Given the description of an element on the screen output the (x, y) to click on. 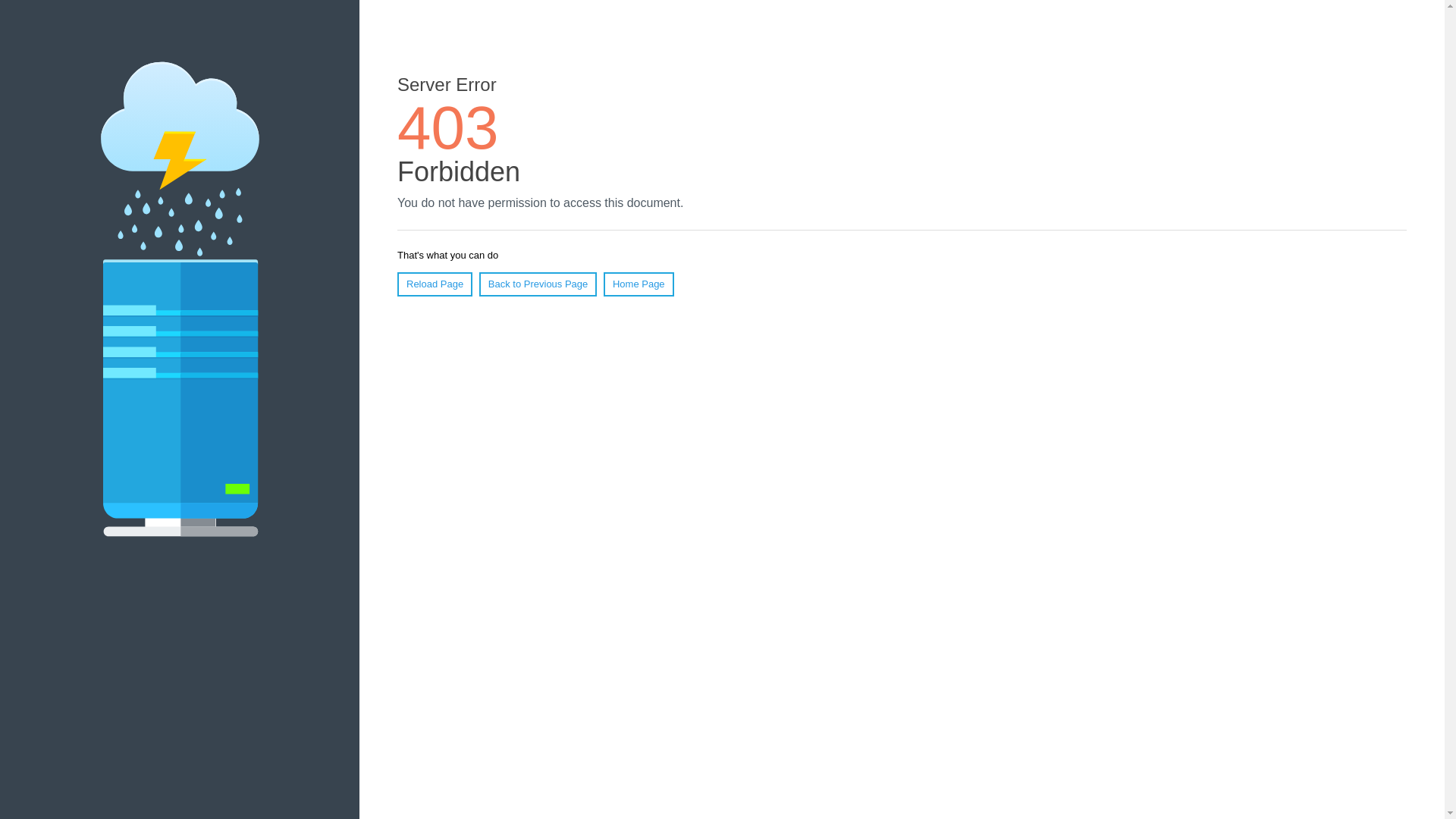
Reload Page Element type: text (434, 284)
Home Page Element type: text (638, 284)
Back to Previous Page Element type: text (538, 284)
